Given the description of an element on the screen output the (x, y) to click on. 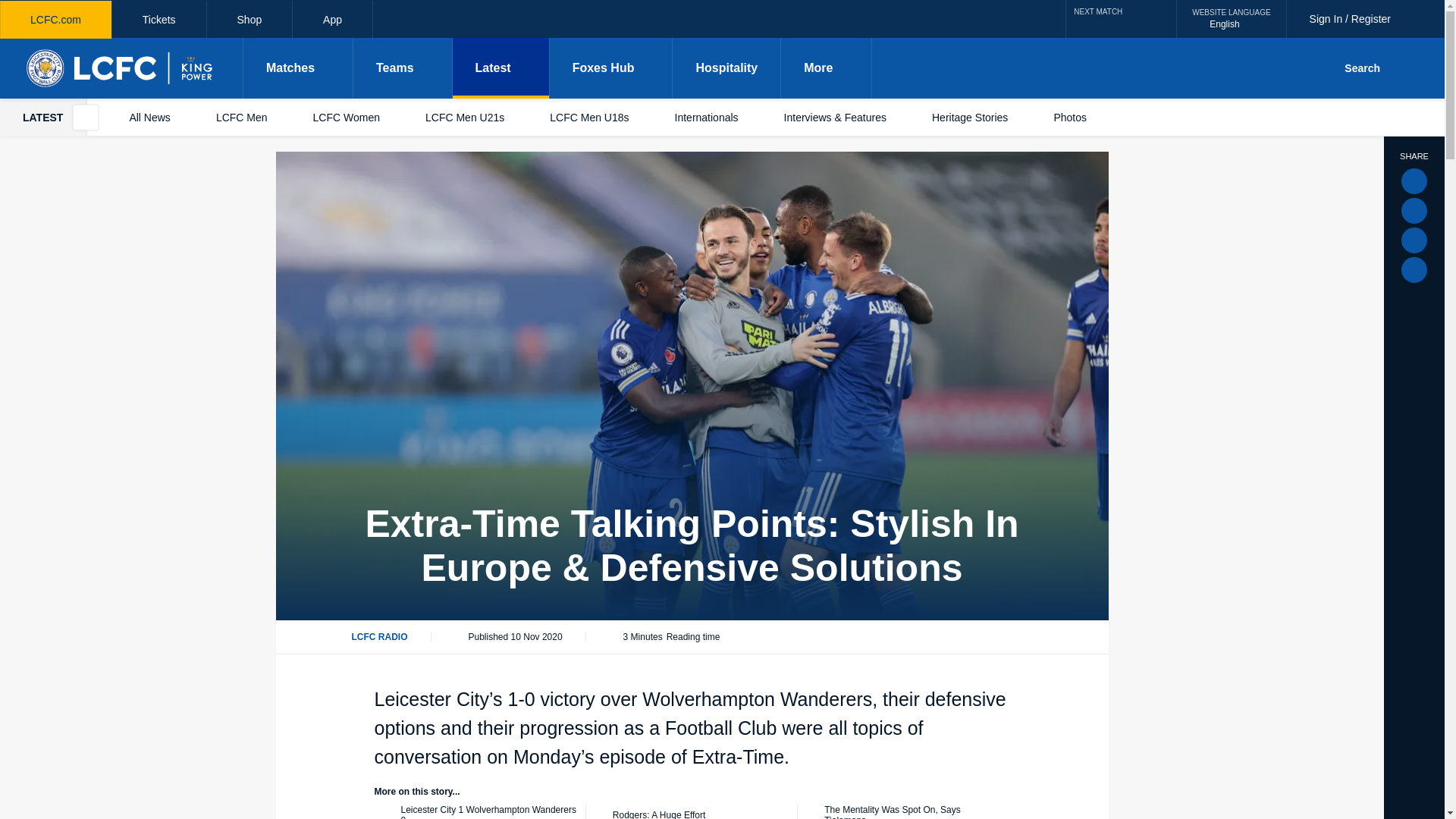
LCFC.com (56, 19)
App (332, 19)
Hospitality (726, 67)
Home (121, 67)
Shop (249, 19)
Tickets (159, 19)
NEXT MATCH (1120, 18)
